Given the description of an element on the screen output the (x, y) to click on. 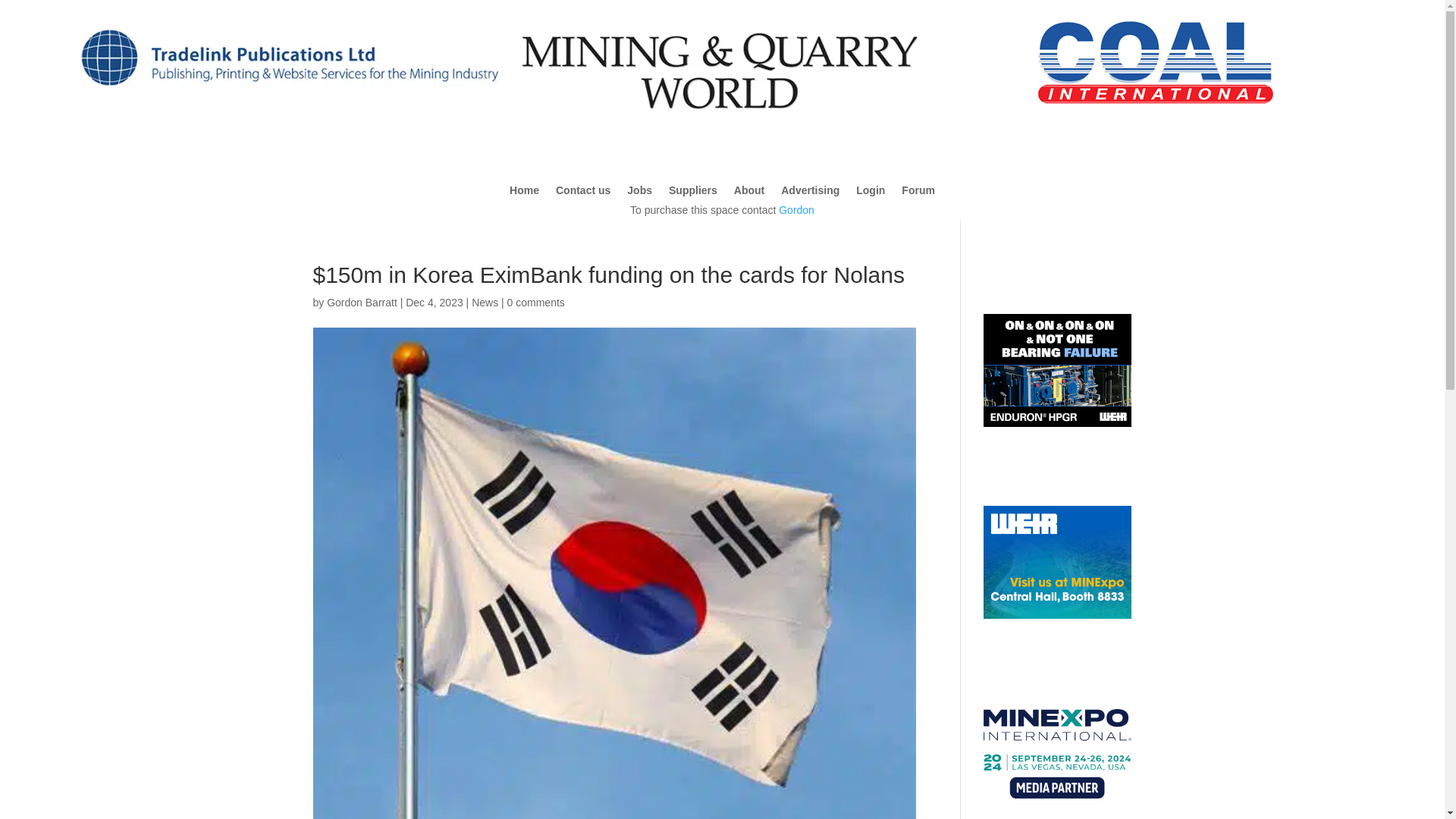
Suppliers (692, 193)
Login (870, 193)
Home (523, 193)
Forum (917, 193)
About (748, 193)
Gordon (795, 209)
Coal internalional (1156, 61)
Posts by Gordon Barratt (361, 302)
Jobs (639, 193)
Contact us (583, 193)
